Given the description of an element on the screen output the (x, y) to click on. 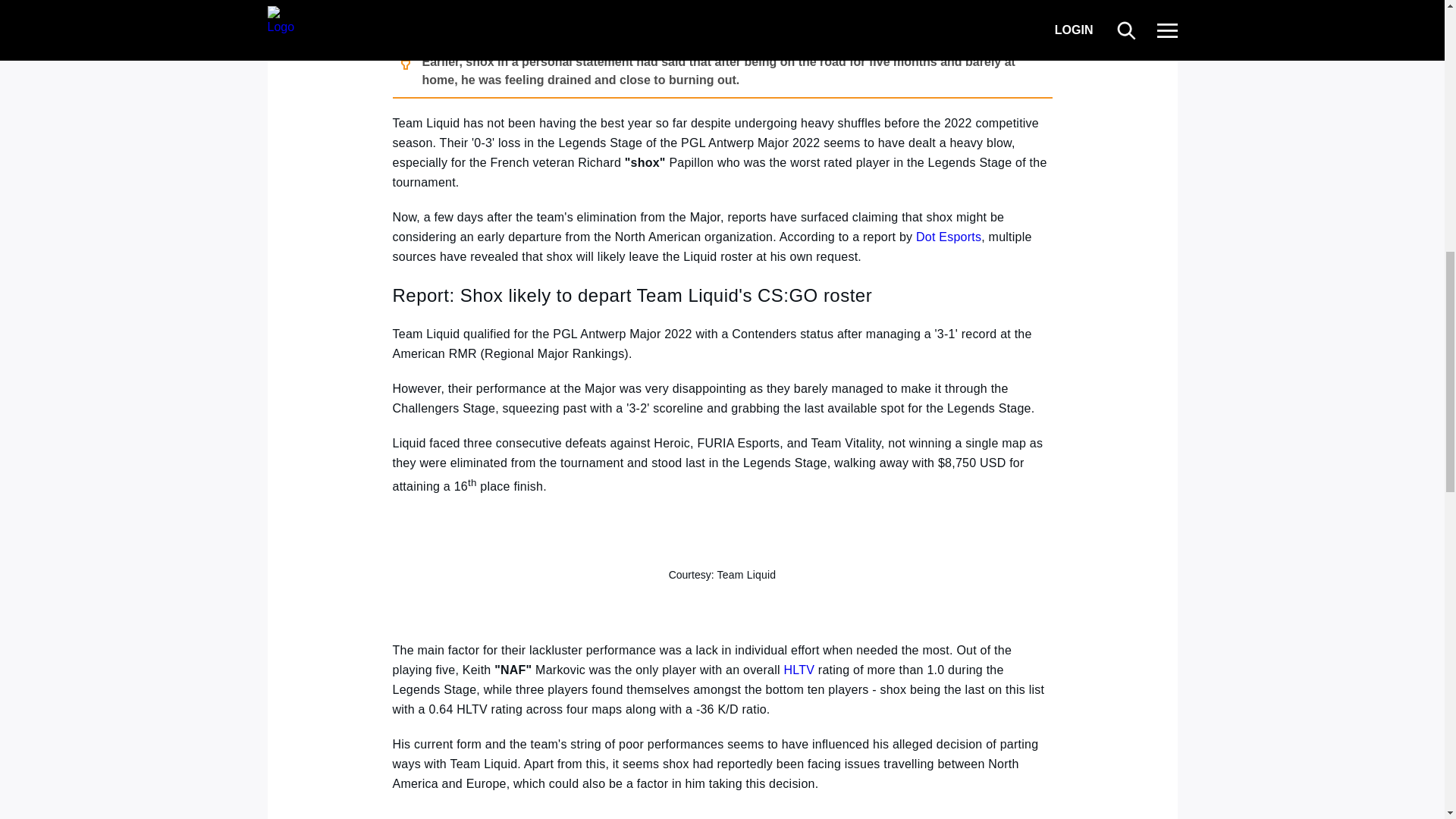
Team Liquid (746, 574)
HLTV (799, 669)
Dot Esports (948, 236)
